Given the description of an element on the screen output the (x, y) to click on. 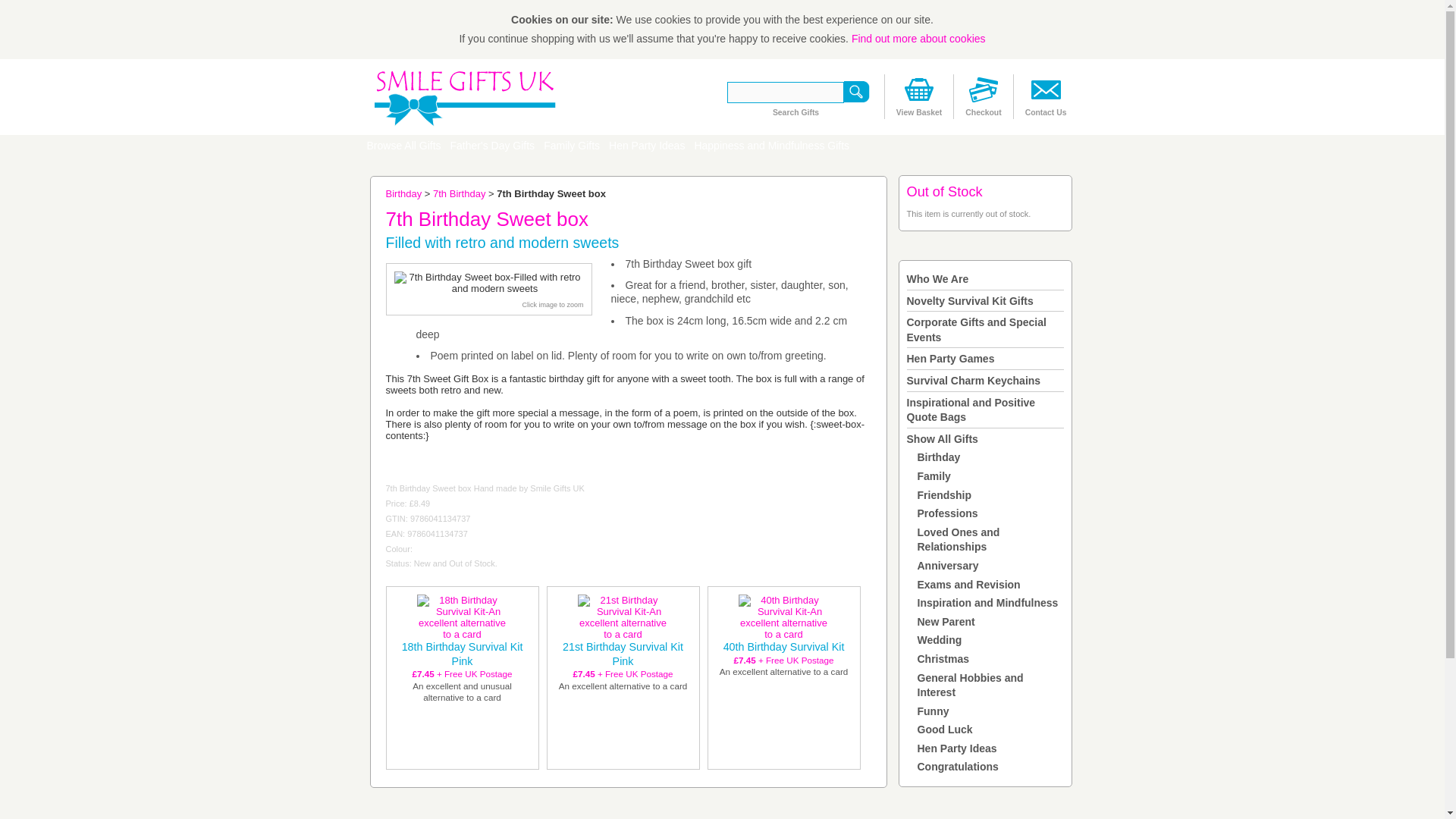
Father's Day Gifts (492, 145)
Corporate Gifts and Special Events (976, 329)
Click image to zoom (552, 304)
Happiness and Mindfulness Gifts (770, 145)
Show All Gifts (942, 439)
7th Birthday (458, 193)
Browse All Gifts (403, 145)
Novelty Survival Kit Gifts (970, 300)
Survival Charm Keychains (974, 380)
Who We Are (938, 278)
Hen Party Ideas (646, 145)
Family Gifts (571, 145)
Hen Party Games (950, 358)
Inspirational and Positive Quote Bags (971, 410)
Birthday (403, 193)
